Given the description of an element on the screen output the (x, y) to click on. 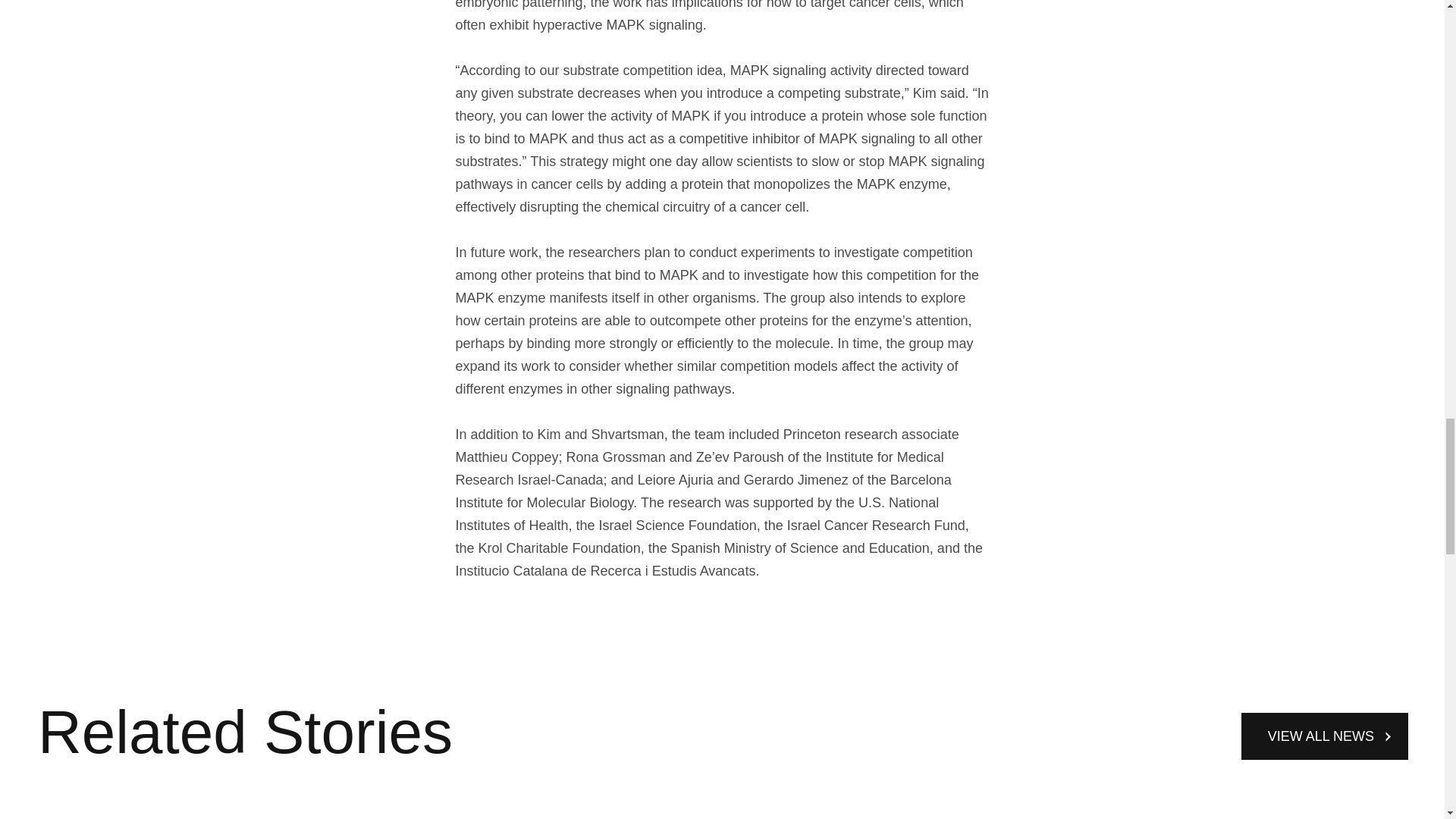
VIEW ALL NEWS (1324, 736)
